Given the description of an element on the screen output the (x, y) to click on. 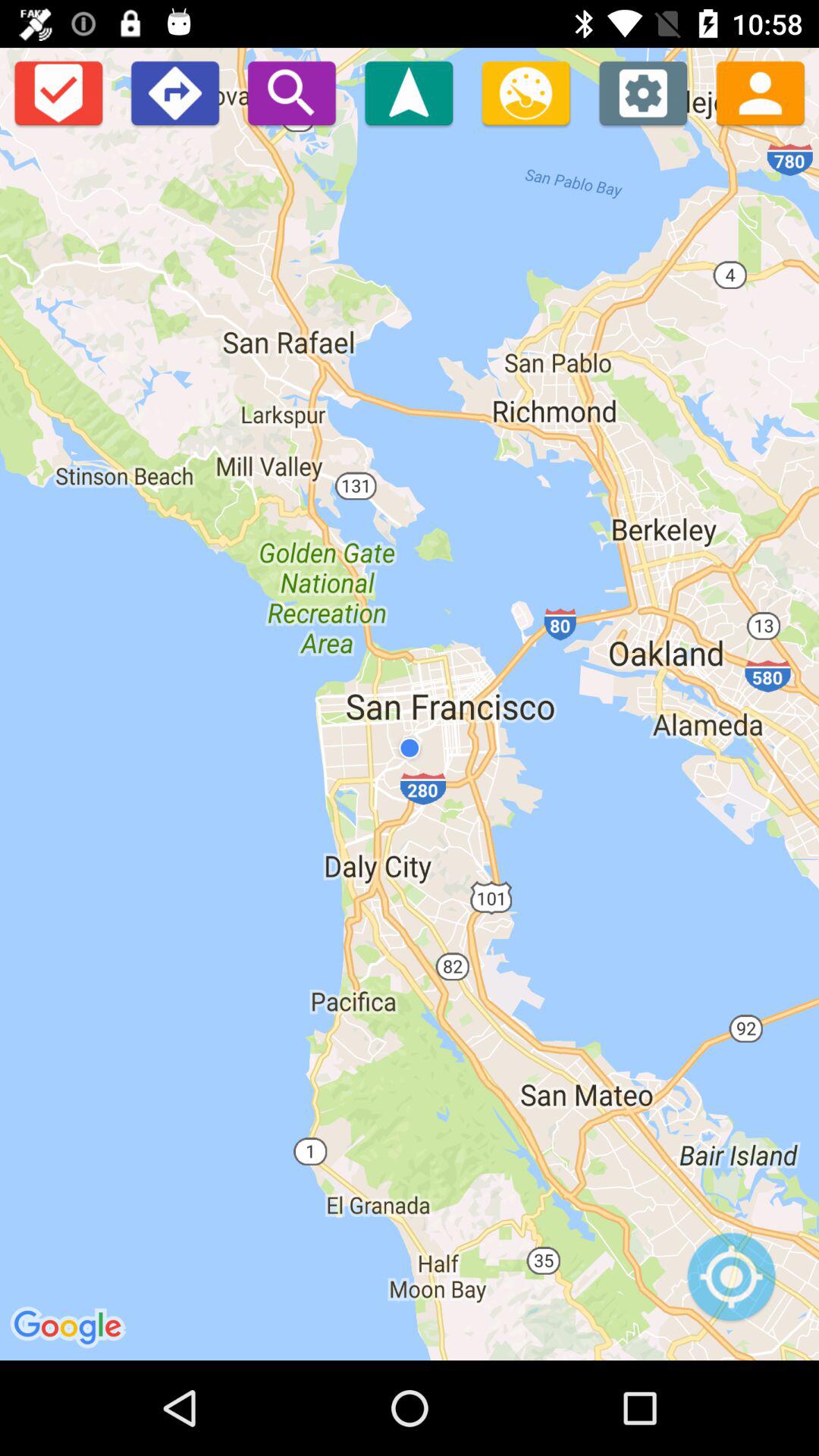
navigate (408, 92)
